Given the description of an element on the screen output the (x, y) to click on. 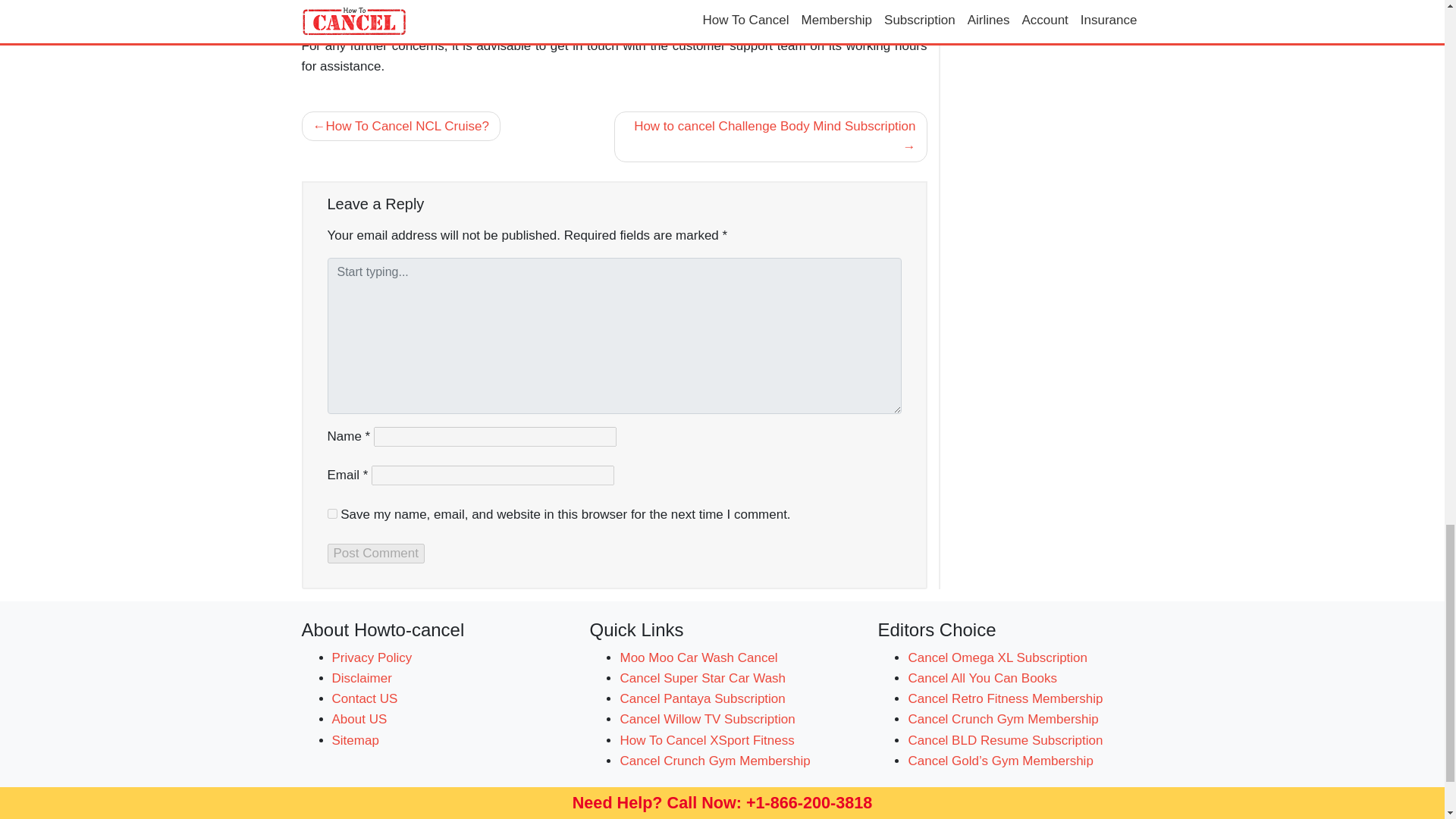
Post Comment (376, 553)
How to cancel Challenge Body Mind Subscription (770, 136)
yes (332, 513)
Post Comment (376, 553)
How To Cancel NCL Cruise? (400, 125)
